Given the description of an element on the screen output the (x, y) to click on. 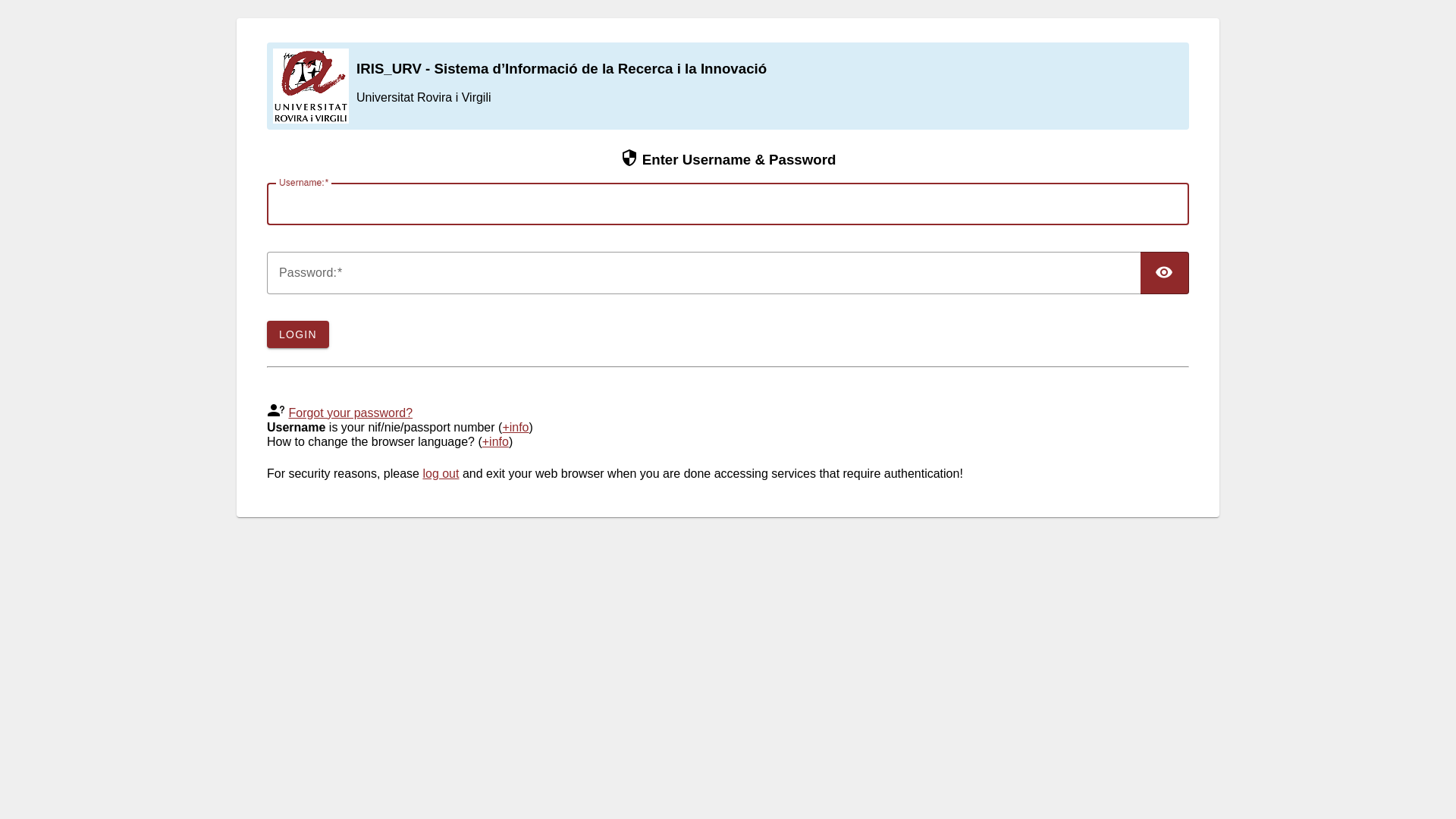
TOGGLE PASSWORD Element type: text (1164, 272)
log out Element type: text (440, 473)
Forgot your password? Element type: text (350, 412)
LOGIN Element type: text (297, 334)
+info Element type: text (515, 426)
+info Element type: text (495, 441)
